Given the description of an element on the screen output the (x, y) to click on. 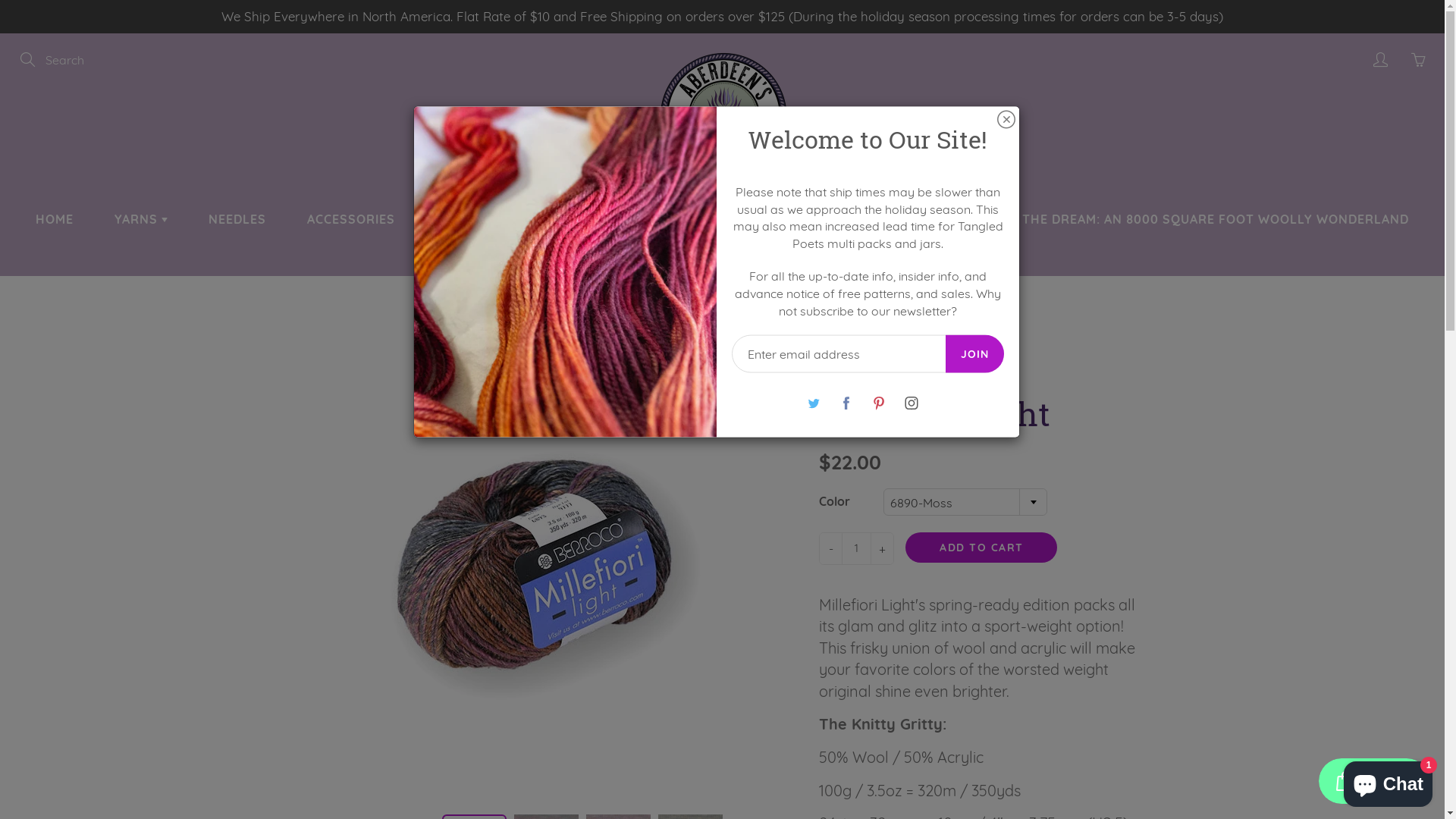
Search Element type: text (28, 59)
JOIN Element type: text (974, 353)
PATTERNS AND BOOKS Element type: text (593, 219)
Home Element type: text (677, 321)
KITS Element type: text (455, 219)
Smile.io Rewards Program Launcher Element type: hover (1373, 780)
HOME Element type: text (54, 219)
ADD TO CART Element type: text (981, 547)
- Element type: text (830, 548)
TANGLED POETS Element type: text (858, 219)
Millefiori Light Element type: hover (537, 575)
My account Element type: text (1379, 59)
ACCESSORIES Element type: text (351, 219)
Instagram Element type: hover (910, 402)
SALE/CLEARANCE YARN Element type: text (721, 257)
You have 0 items in your cart Element type: text (1417, 59)
Pinterest Element type: hover (879, 402)
YARNS Element type: text (140, 219)
NEWS Element type: text (736, 219)
Shopify online store chat Element type: hover (1388, 780)
BUILDING THE DREAM: AN 8000 SQUARE FOOT WOOLLY WONDERLAND Element type: text (1182, 219)
NEEDLES Element type: text (237, 219)
Twitter Element type: hover (813, 402)
Facebook Element type: hover (845, 402)
+ Element type: text (882, 548)
